Given the description of an element on the screen output the (x, y) to click on. 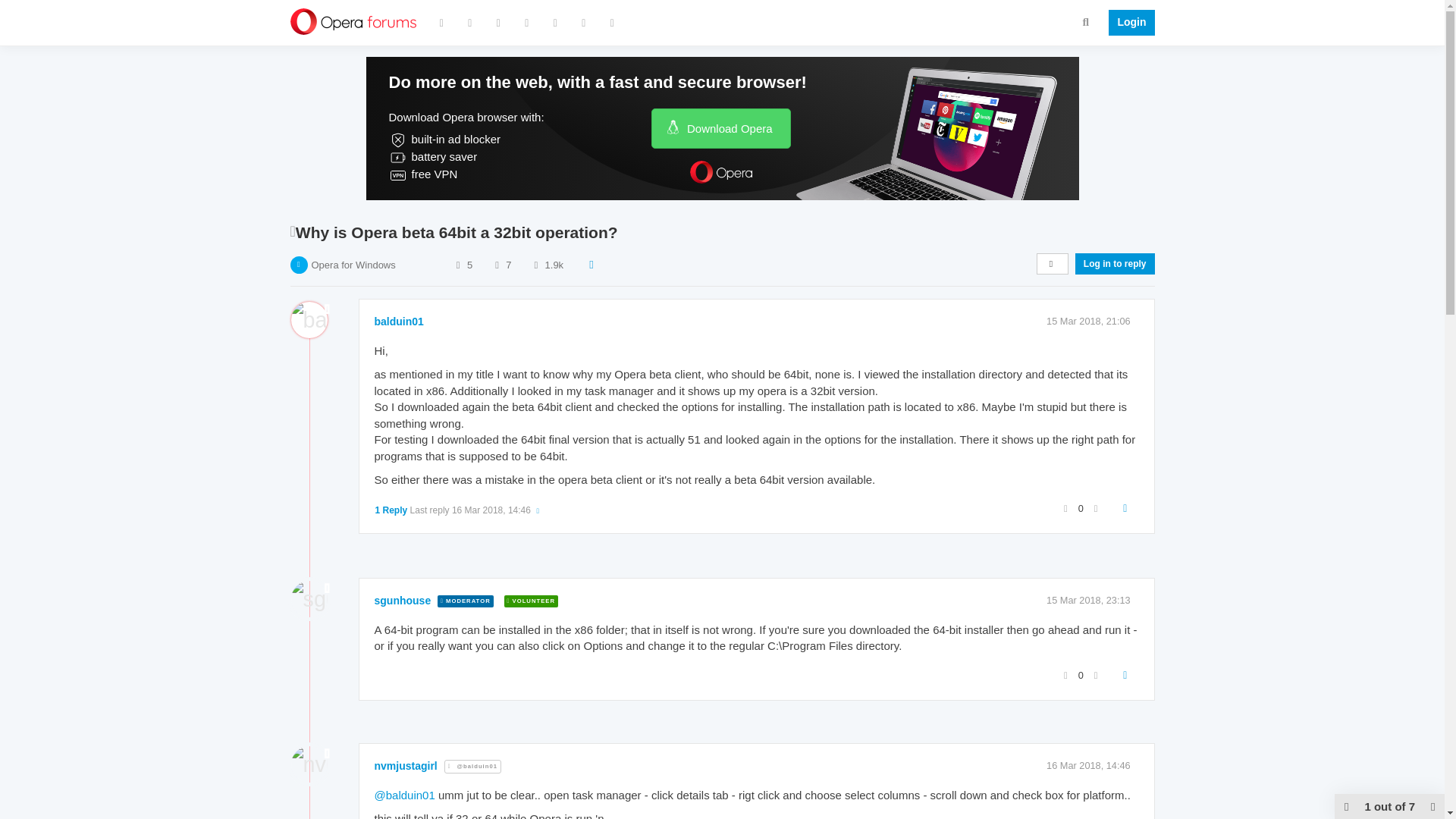
Opera for Windows (352, 265)
Search (1085, 21)
balduin01 (398, 321)
Download Opera (720, 128)
15 Mar 2018, 21:06 (1088, 320)
Login (1127, 22)
Log in to reply (1114, 263)
